Given the description of an element on the screen output the (x, y) to click on. 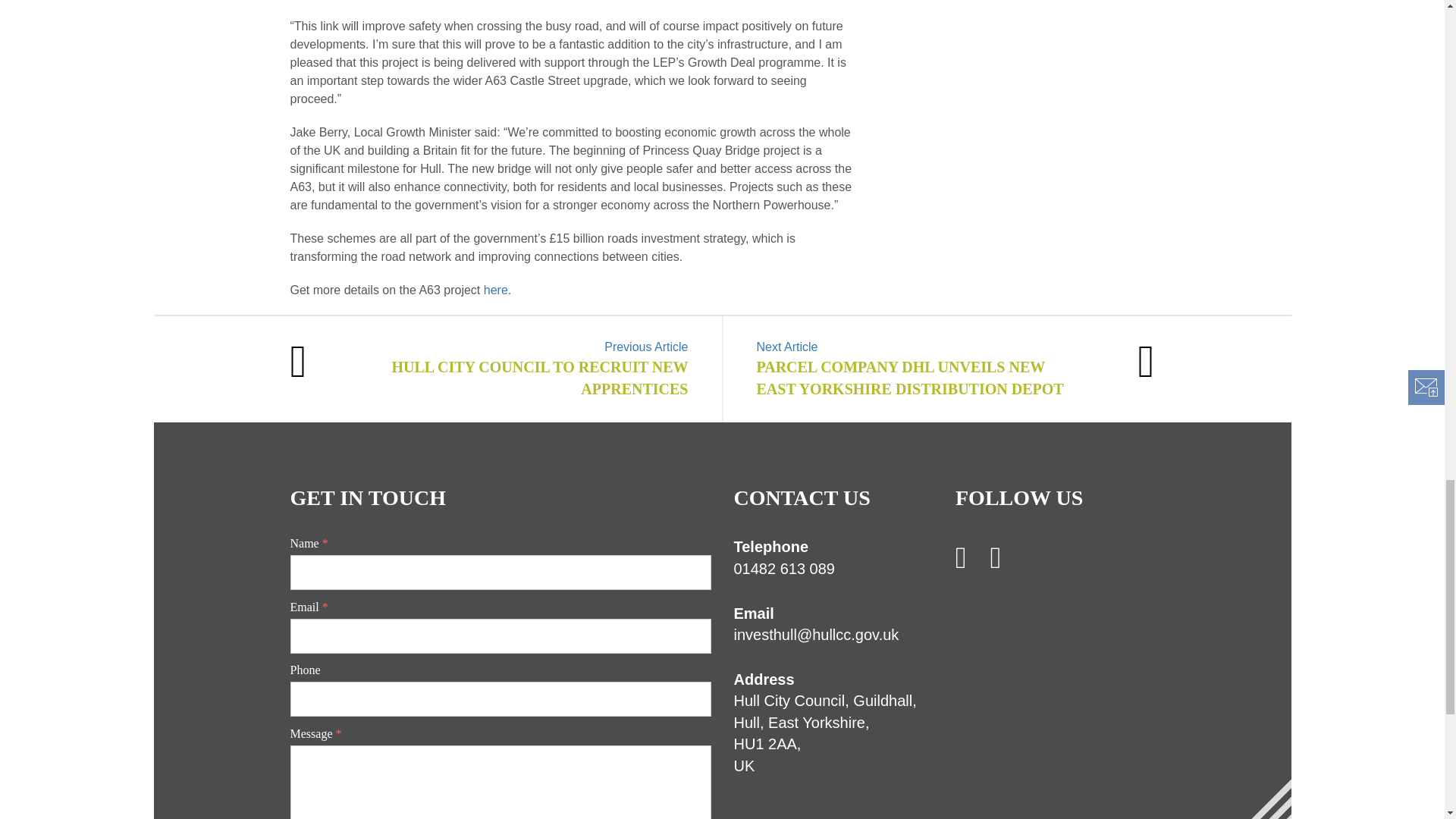
here (495, 289)
